Given the description of an element on the screen output the (x, y) to click on. 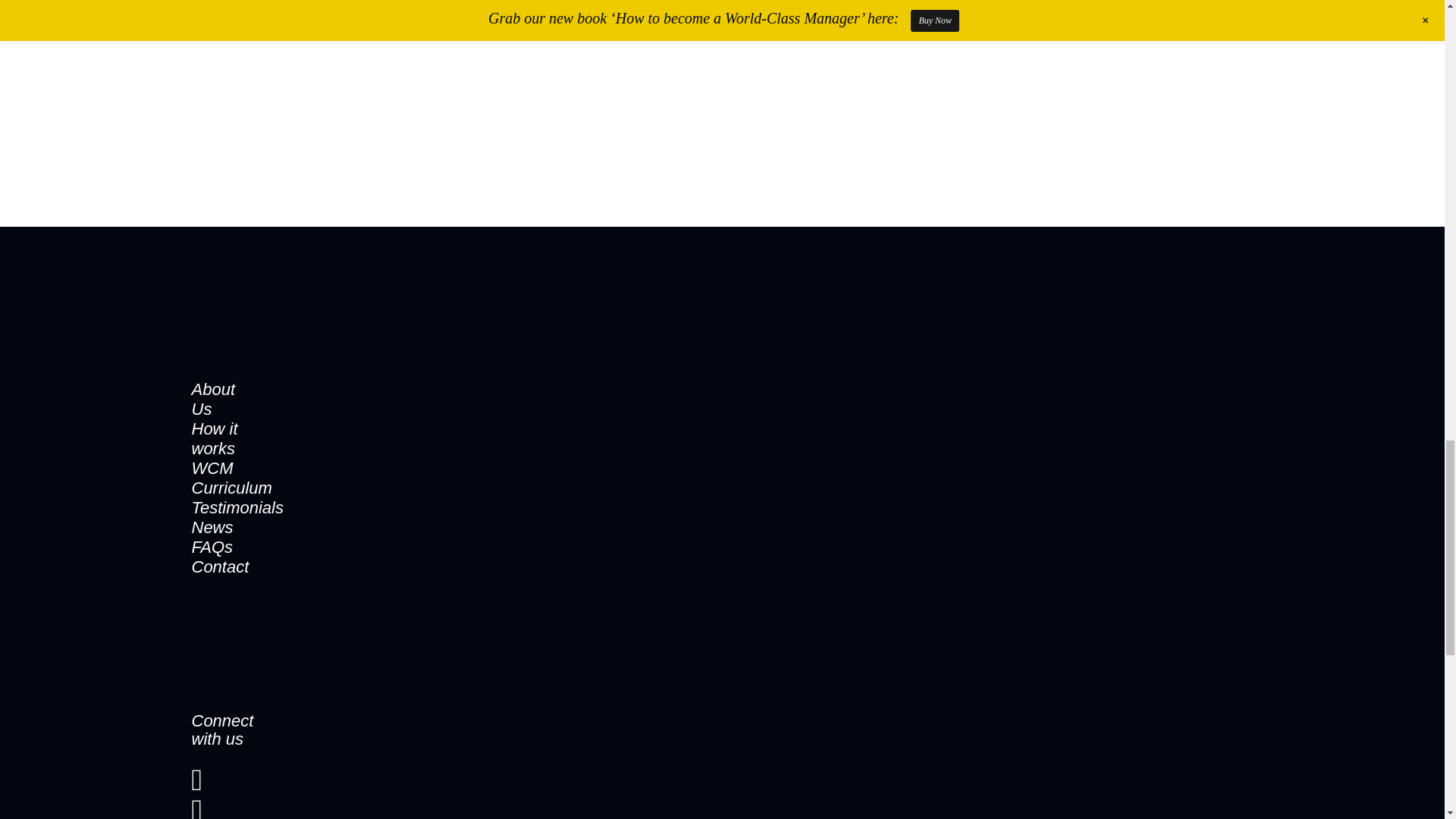
FAQs (211, 546)
Testimonials (236, 506)
How it works (213, 437)
News (211, 526)
WCM Curriculum (230, 476)
About Us (212, 398)
Contact (219, 565)
